Given the description of an element on the screen output the (x, y) to click on. 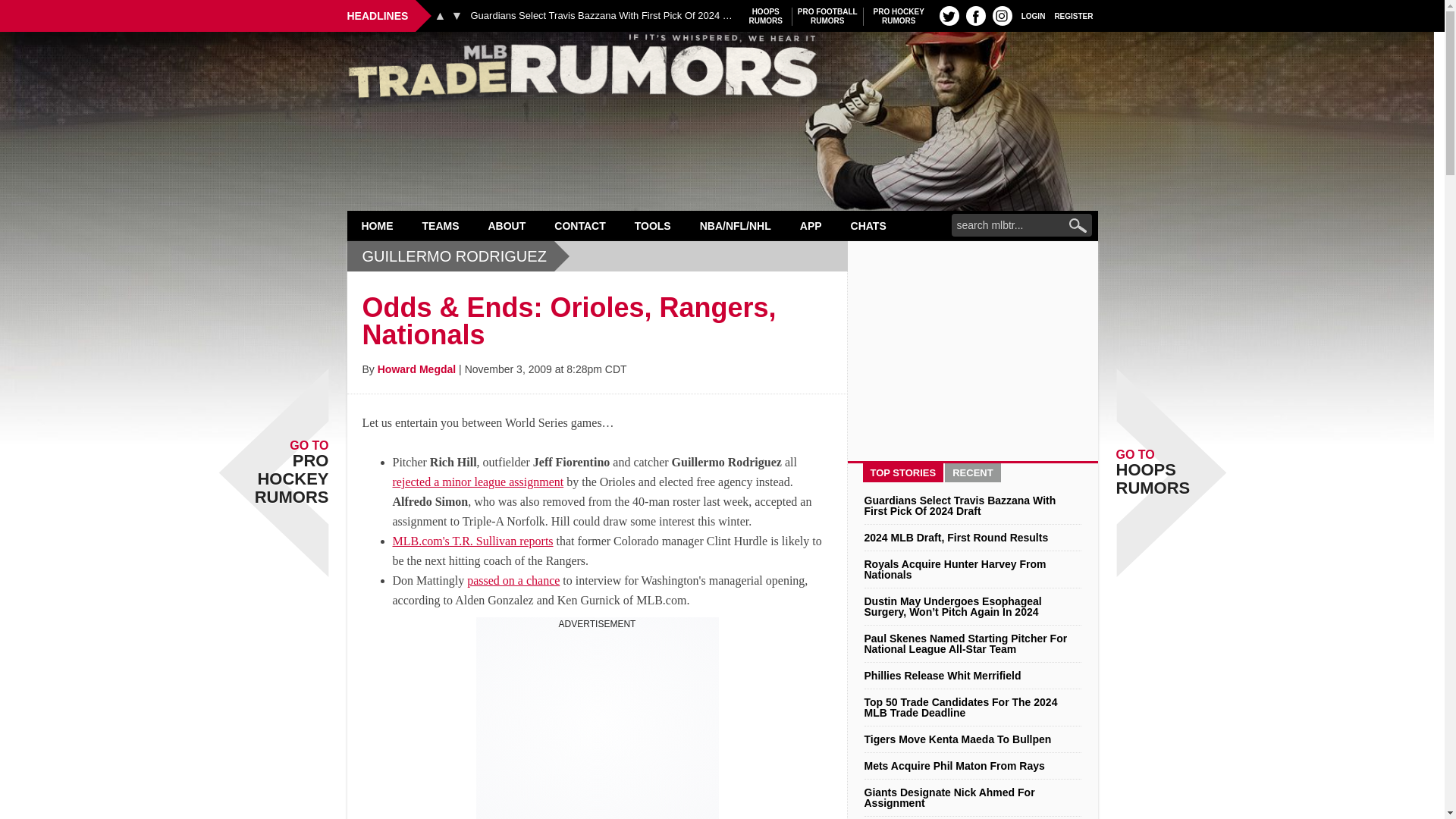
Next (456, 15)
MLB Trade Rumors (722, 69)
REGISTER (1073, 15)
Twitter profile (949, 15)
3rd party ad content (898, 16)
HOME (597, 724)
FB profile (377, 225)
LOGIN (975, 15)
Instagram profile (765, 16)
TEAMS (827, 16)
